Given the description of an element on the screen output the (x, y) to click on. 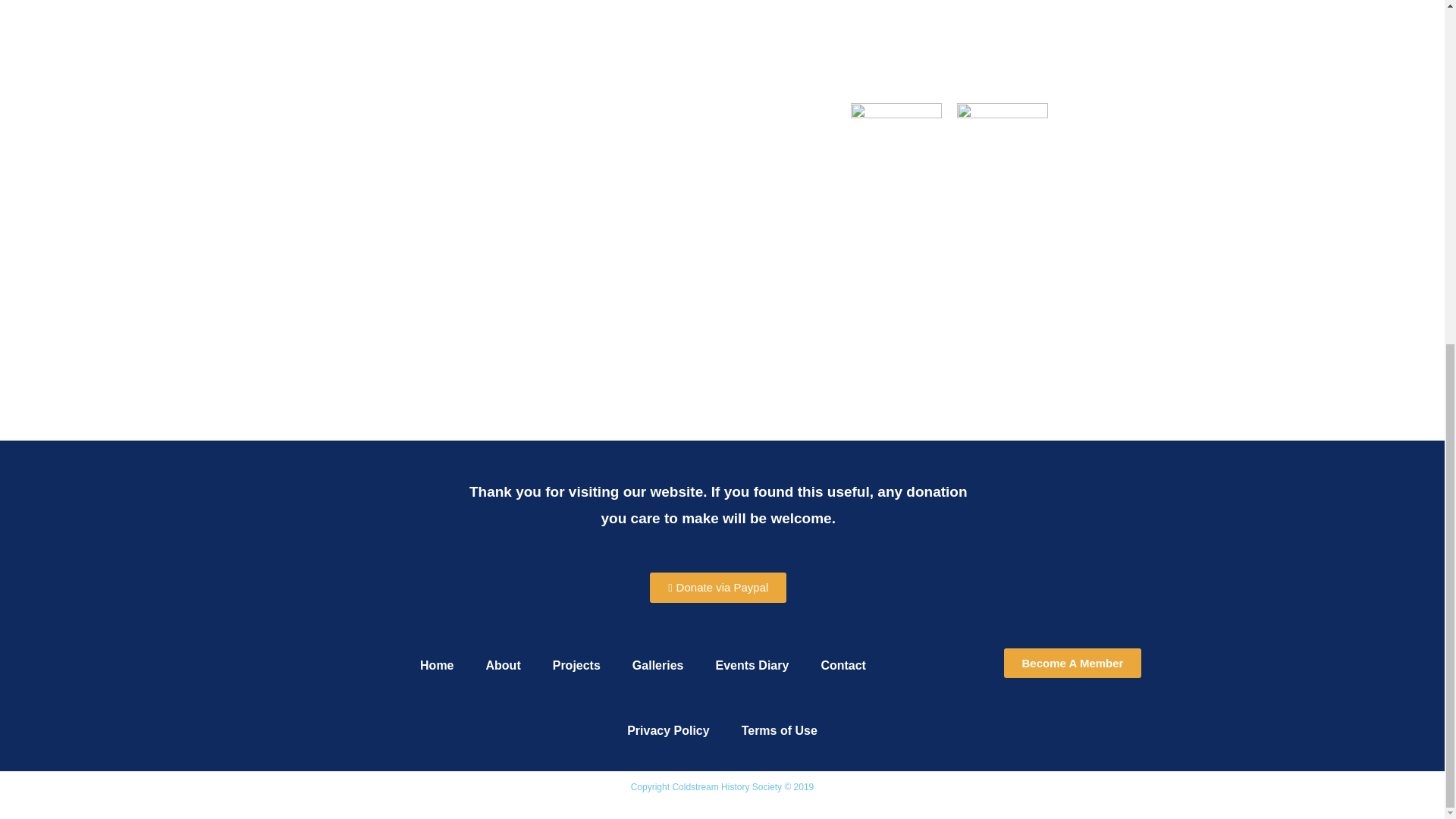
Home (436, 665)
Events Diary (751, 665)
About (502, 665)
Donate via Paypal (717, 587)
Projects (576, 665)
Galleries (657, 665)
